Given the description of an element on the screen output the (x, y) to click on. 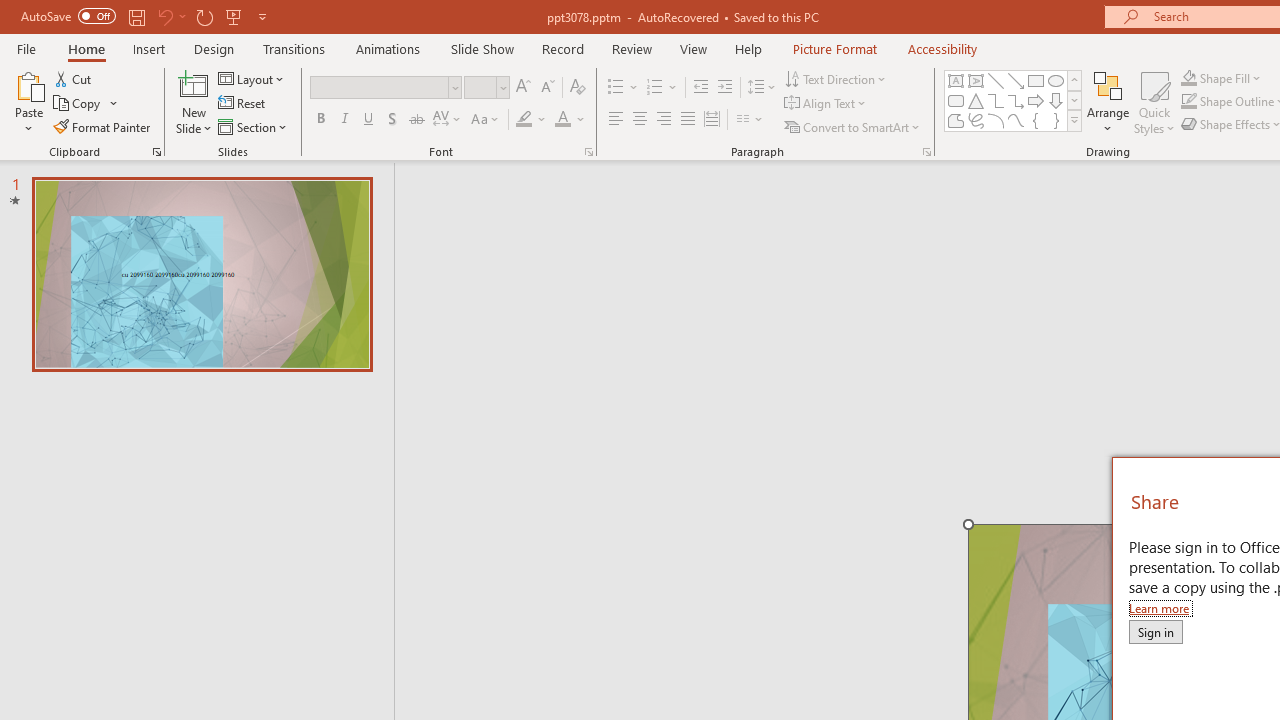
Shape Fill Dark Green, Accent 2 (1188, 78)
Decrease Font Size (547, 87)
Align Left (616, 119)
Right Brace (1055, 120)
Increase Font Size (522, 87)
Text Box (955, 80)
Reset (243, 103)
Section (254, 126)
AutomationID: ShapesInsertGallery (1014, 100)
Distributed (712, 119)
